Given the description of an element on the screen output the (x, y) to click on. 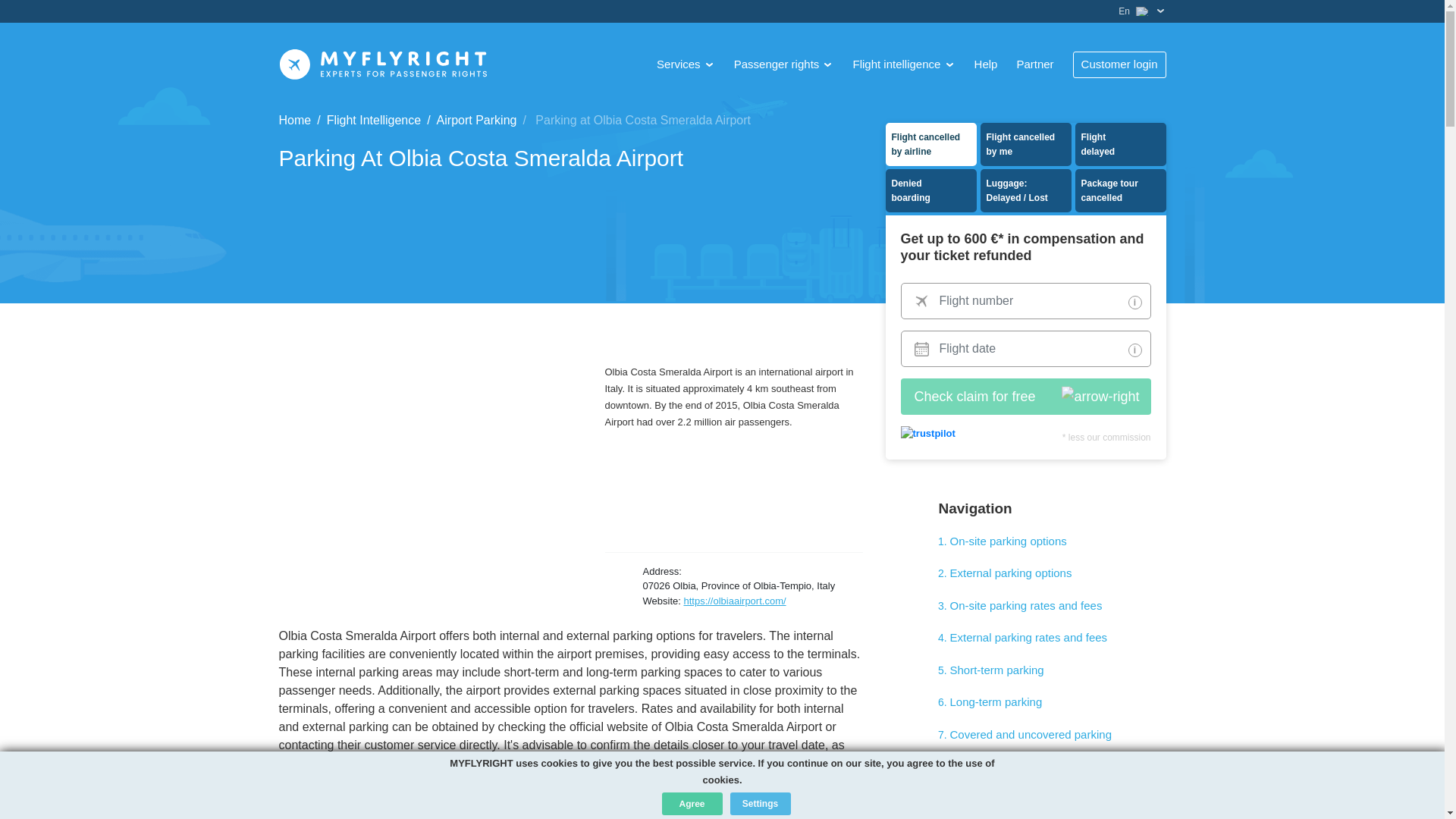
Agree (691, 803)
Settings (759, 803)
